Given the description of an element on the screen output the (x, y) to click on. 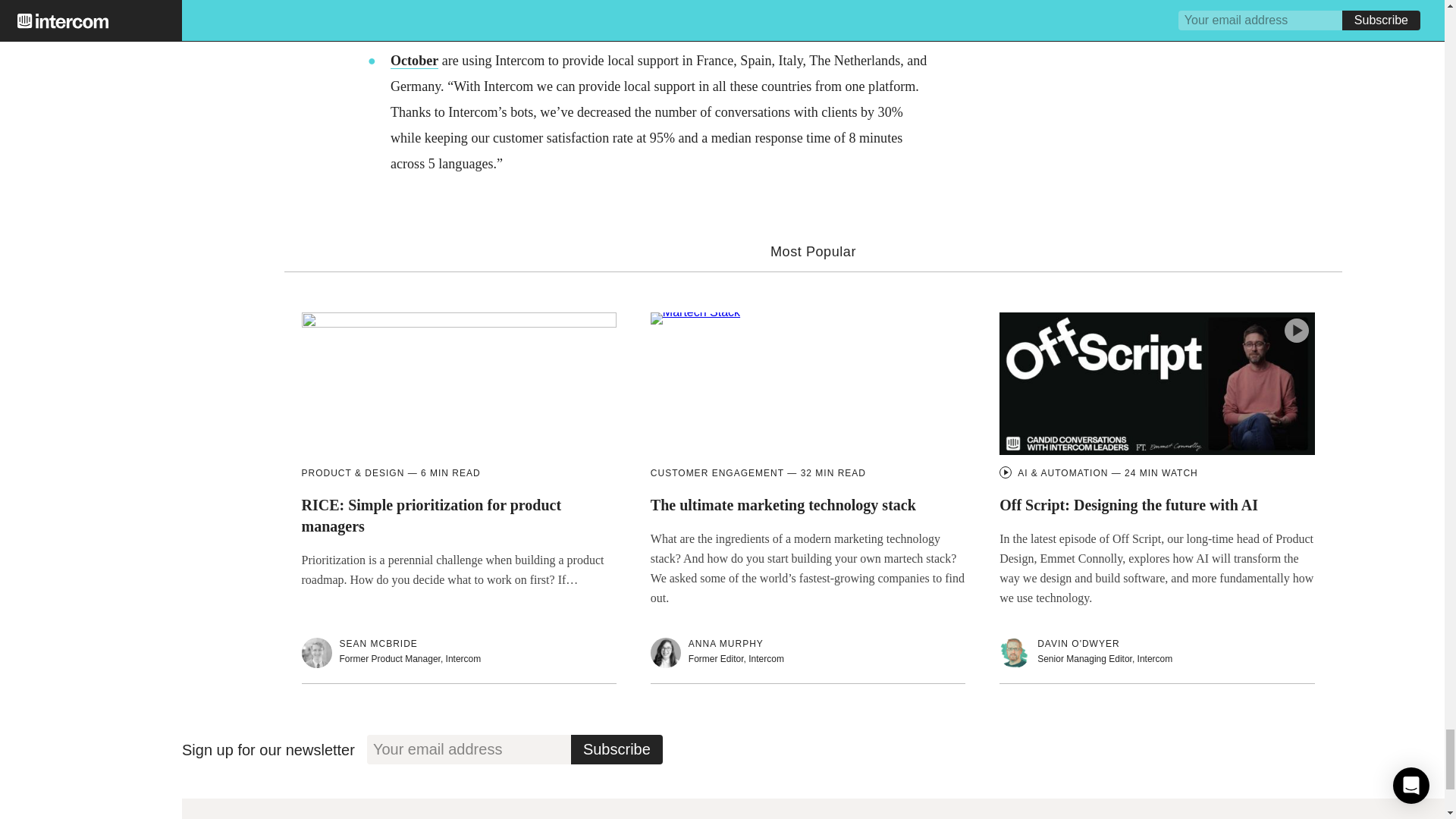
Posts by Sean McBride (378, 644)
Posts by Anna Murphy (725, 644)
Posts by Davin O'Dwyer (1077, 644)
